Given the description of an element on the screen output the (x, y) to click on. 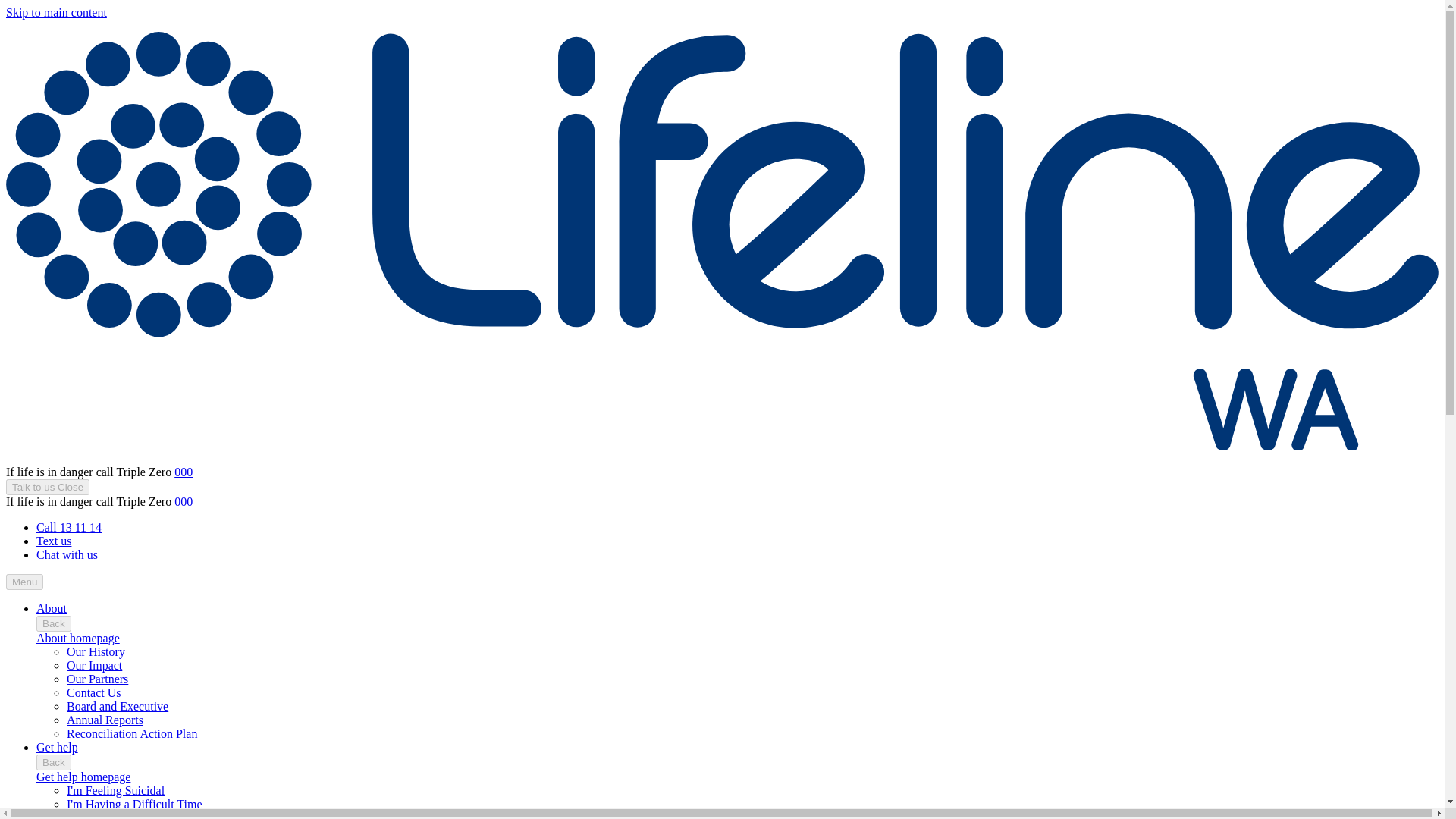
Contact Us (93, 692)
I'm Worried About Someone (135, 815)
I'm Having a Difficult Time (134, 803)
000 (183, 472)
Our Partners (97, 678)
Get help homepage (83, 776)
Skip to main content (55, 11)
000 (183, 501)
Chat with us (66, 554)
Board and Executive (117, 706)
Menu (24, 581)
Reconciliation Action Plan (131, 733)
Get help (57, 747)
Text us (53, 540)
Back (53, 623)
